Given the description of an element on the screen output the (x, y) to click on. 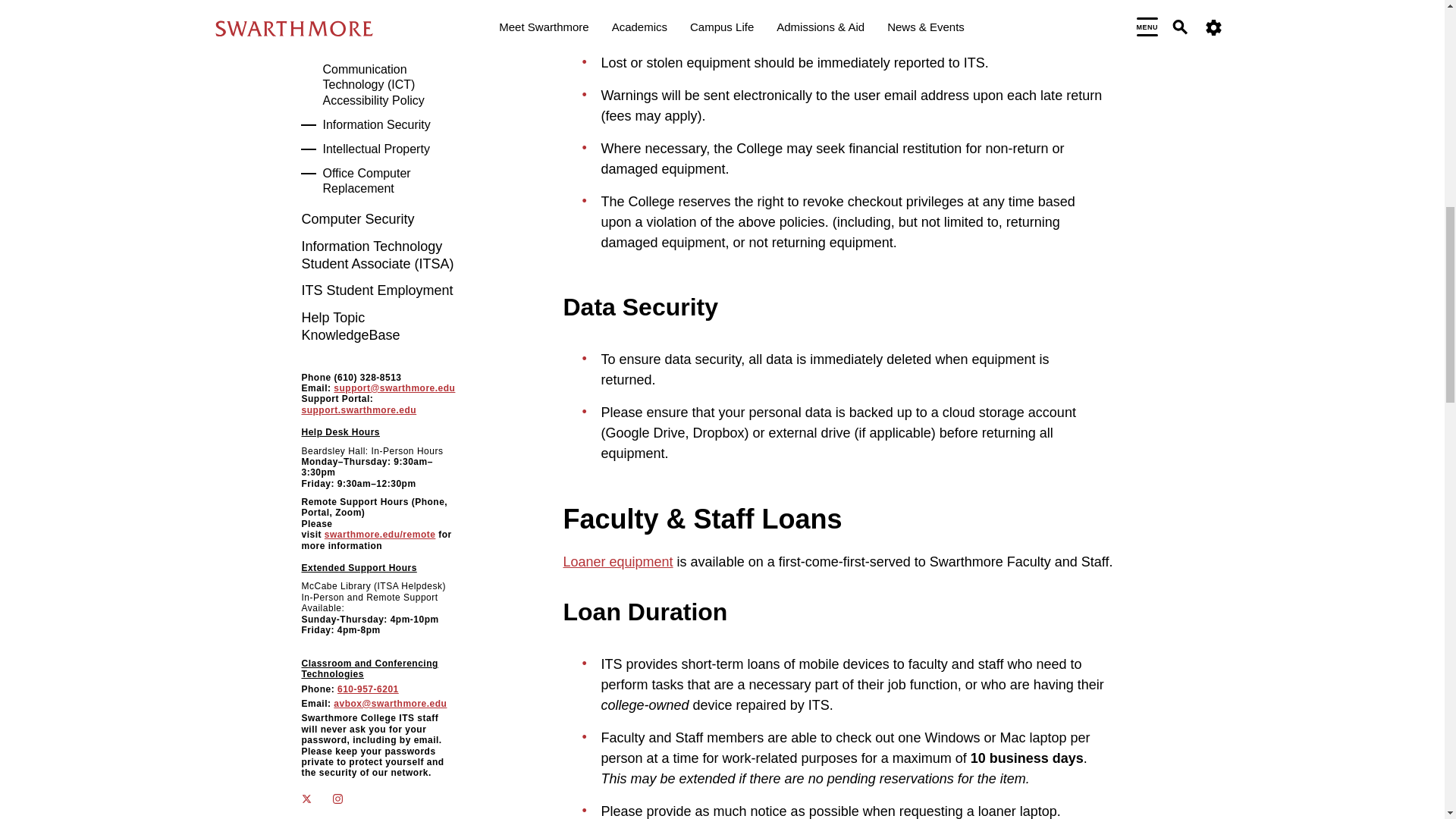
swarthmore college its on instagram (346, 799)
swarthmore college its on twitter (316, 799)
Instagram (337, 798)
